Given the description of an element on the screen output the (x, y) to click on. 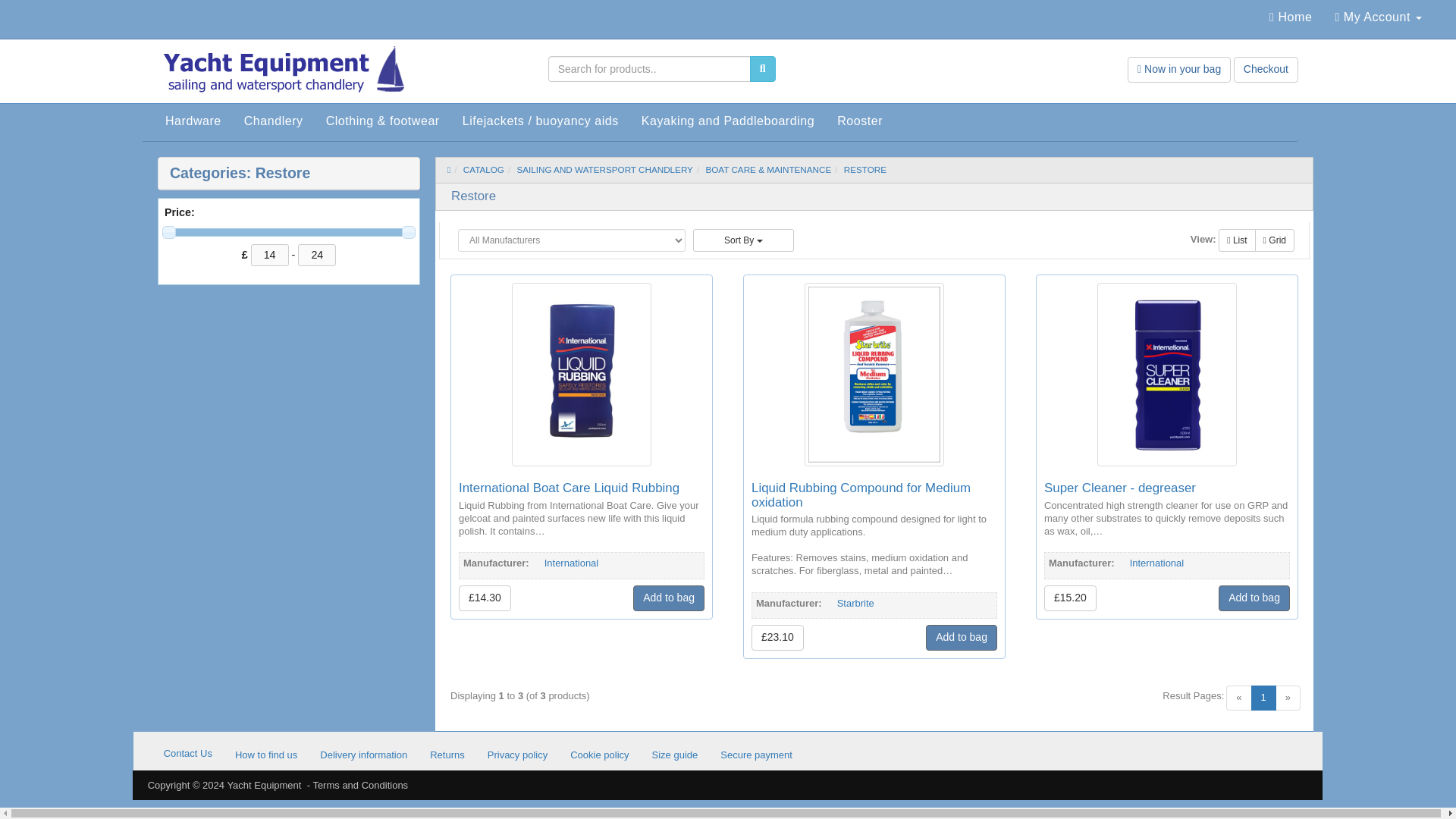
Checkout (1265, 69)
My Account (1377, 17)
Home (1290, 17)
Yacht Equipment (290, 73)
24 (317, 254)
14 (269, 254)
Hardware (193, 121)
 Page 1  (1263, 697)
Now in your bag (1178, 69)
